Given the description of an element on the screen output the (x, y) to click on. 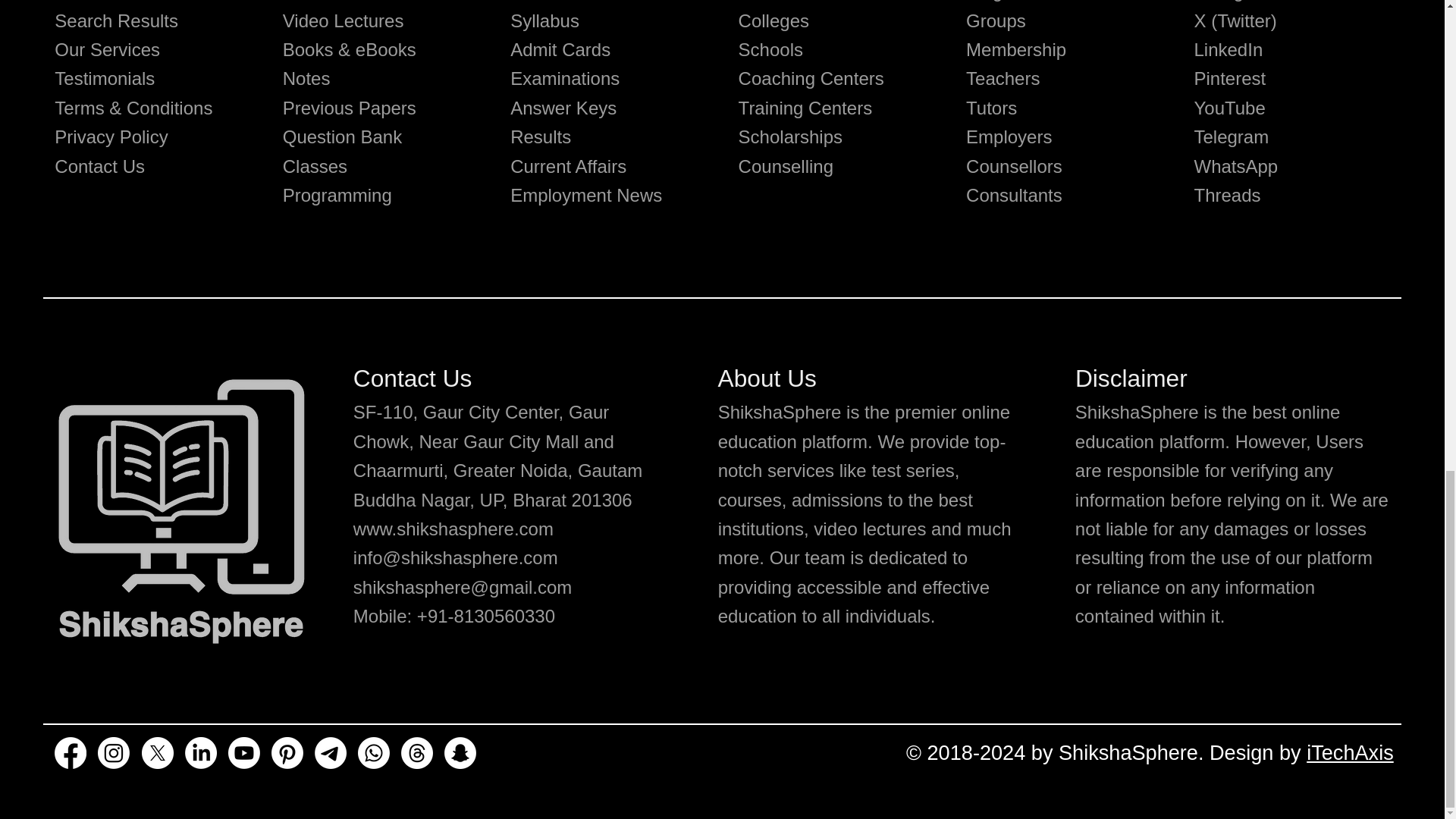
Testimonials (104, 77)
Video Lectures (343, 20)
Our Services (107, 49)
Contact Us (99, 166)
Search Results (116, 20)
Notes (306, 77)
About Us (92, 0)
Privacy Policy (111, 136)
